Given the description of an element on the screen output the (x, y) to click on. 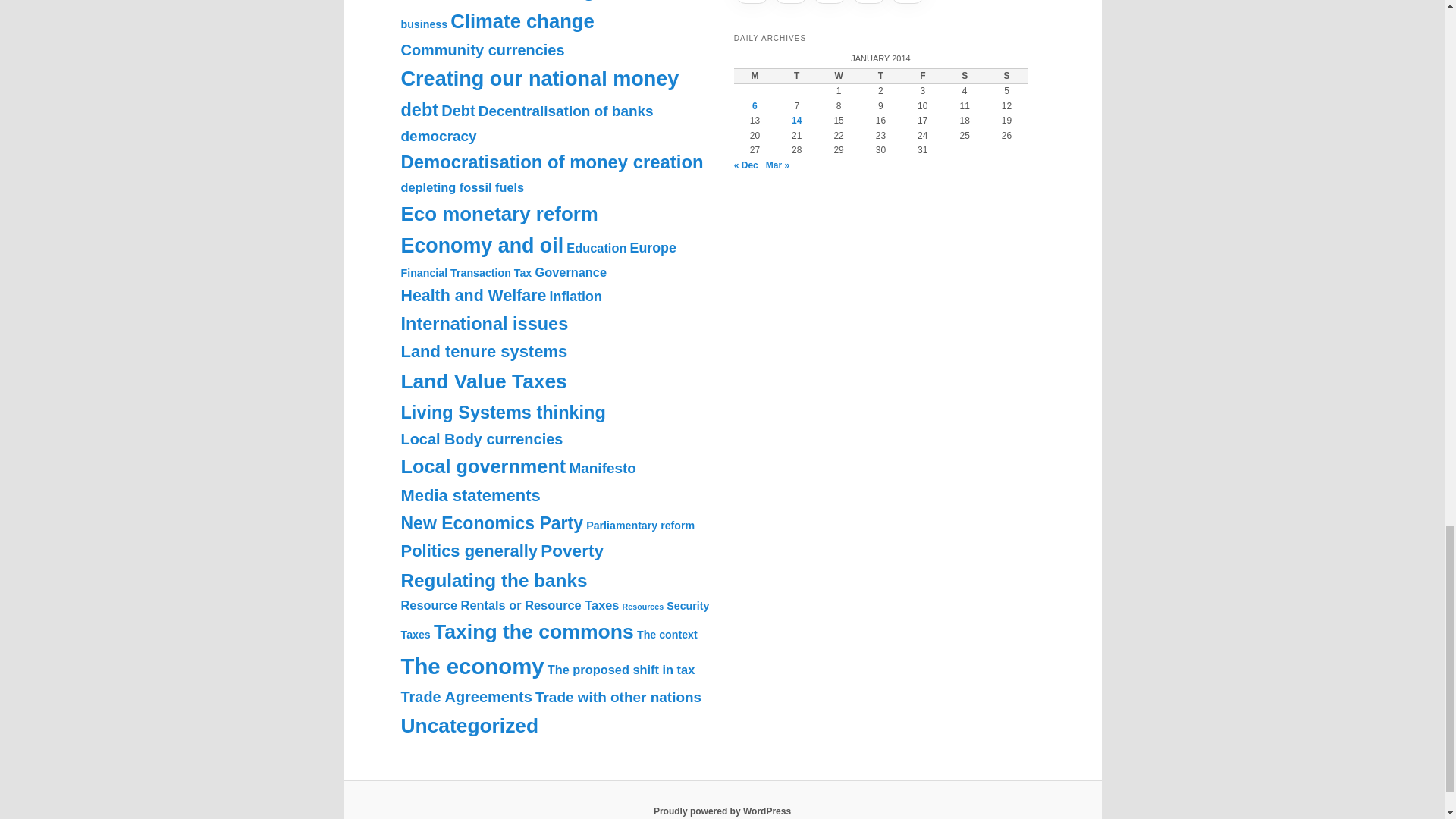
Thursday (880, 76)
Saturday (964, 76)
Semantic Personal Publishing Platform (721, 810)
Wednesday (837, 76)
Tuesday (796, 76)
Friday (922, 76)
Monday (754, 76)
Sunday (1006, 76)
